Given the description of an element on the screen output the (x, y) to click on. 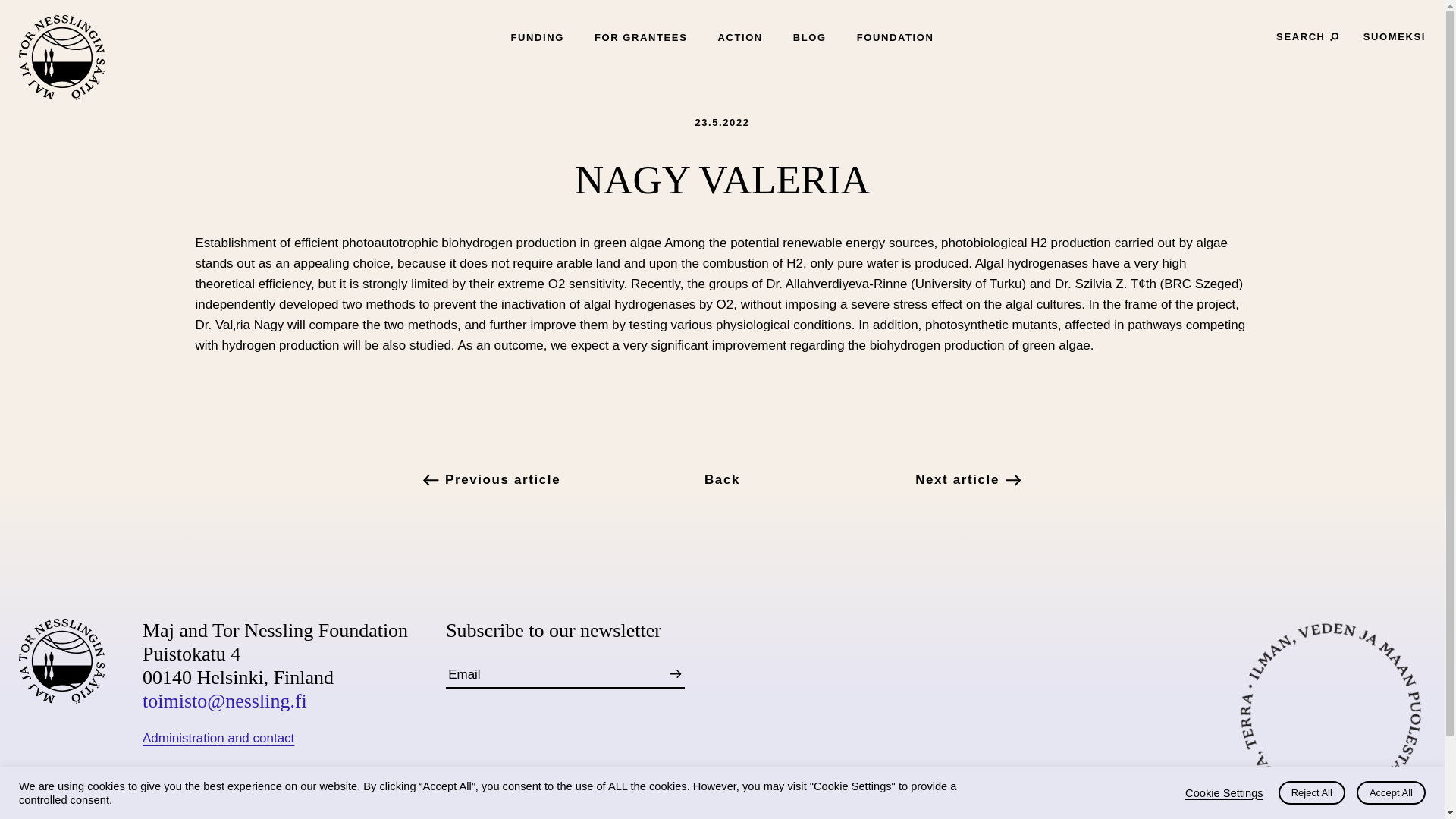
Previous article (563, 479)
Next article (880, 479)
To home page (61, 57)
FUNDING (537, 38)
Back (721, 479)
FOUNDATION (895, 38)
SUOMEKSI (1393, 37)
Hae hakusanalla: (1304, 37)
FOR GRANTEES (640, 38)
BLOG (810, 38)
